Given the description of an element on the screen output the (x, y) to click on. 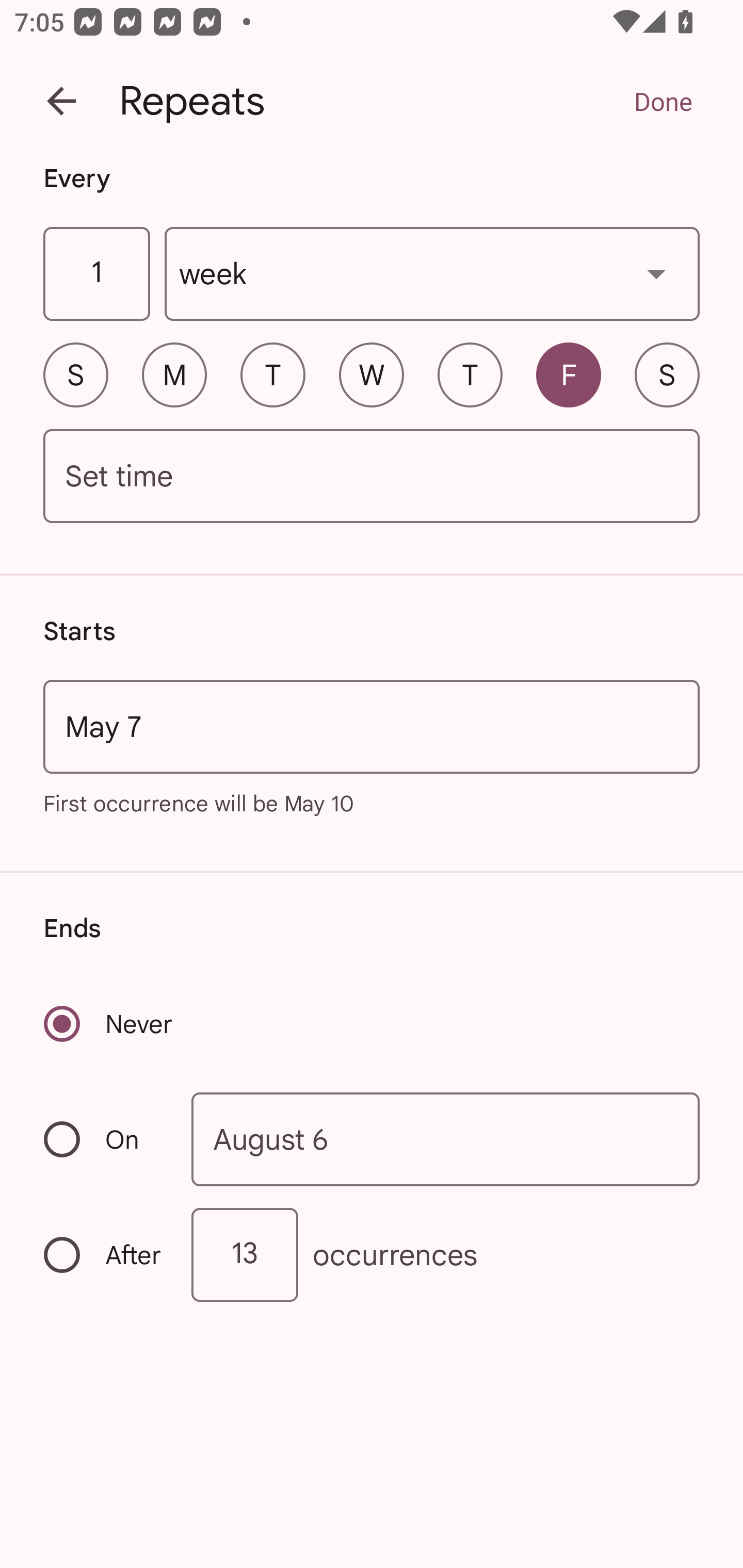
Back (61, 101)
Done (663, 101)
1 (96, 274)
week (431, 274)
Show dropdown menu (655, 273)
S Sunday (75, 374)
M Monday (173, 374)
T Tuesday (272, 374)
W Wednesday (371, 374)
T Thursday (469, 374)
F Friday, selected (568, 374)
S Saturday (666, 374)
Set time (371, 476)
May 7 (371, 726)
Never Recurrence never ends (109, 1023)
August 6 (445, 1139)
On Recurrence ends on a specific date (104, 1138)
13 (244, 1254)
